Given the description of an element on the screen output the (x, y) to click on. 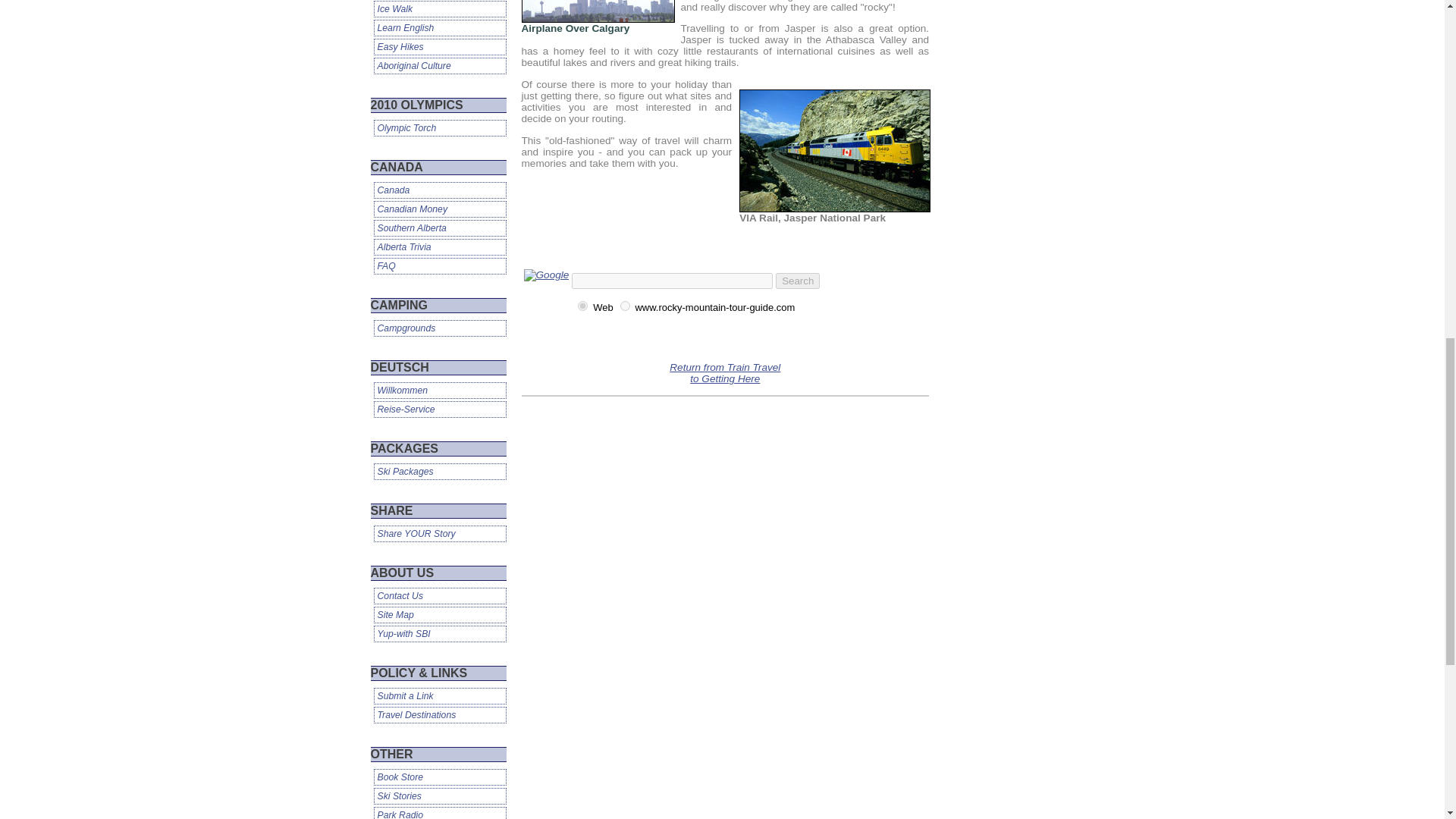
VIA Rail, JNP (834, 150)
FAQ (438, 265)
Ski Packages (438, 471)
Canada (438, 190)
Alberta Trivia (438, 247)
Southern Alberta (438, 228)
Search the Web (602, 307)
Campgrounds (438, 328)
Olympic Torch (438, 127)
Learn English (438, 27)
